Given the description of an element on the screen output the (x, y) to click on. 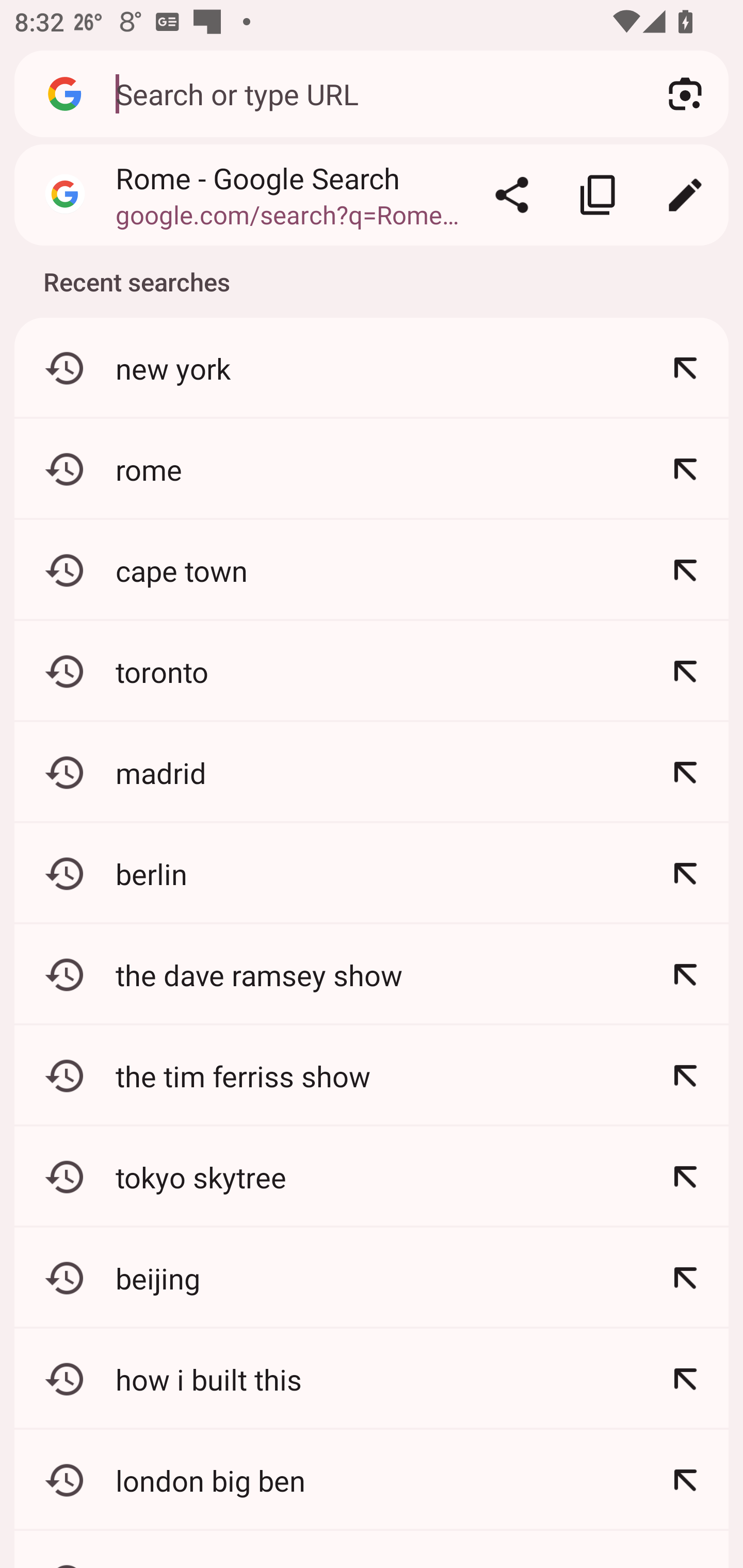
Search with your camera using Google Lens (684, 93)
Search or type URL (367, 92)
Share… (511, 195)
Copy link (598, 195)
Edit (684, 195)
new york Refine: new york (371, 368)
Refine: new york (684, 368)
rome Refine: rome (371, 469)
Refine: rome (684, 469)
cape town Refine: cape town (371, 570)
Refine: cape town (684, 570)
toronto Refine: toronto (371, 671)
Refine: toronto (684, 671)
madrid Refine: madrid (371, 772)
Refine: madrid (684, 772)
berlin Refine: berlin (371, 873)
Refine: berlin (684, 873)
the dave ramsey show Refine: the dave ramsey show (371, 974)
Refine: the dave ramsey show (684, 974)
the tim ferriss show Refine: the tim ferriss show (371, 1075)
Refine: the tim ferriss show (684, 1075)
tokyo skytree Refine: tokyo skytree (371, 1176)
Refine: tokyo skytree (684, 1176)
beijing Refine: beijing (371, 1277)
Refine: beijing (684, 1277)
how i built this Refine: how i built this (371, 1379)
Refine: how i built this (684, 1379)
london big ben Refine: london big ben (371, 1480)
Refine: london big ben (684, 1480)
